Given the description of an element on the screen output the (x, y) to click on. 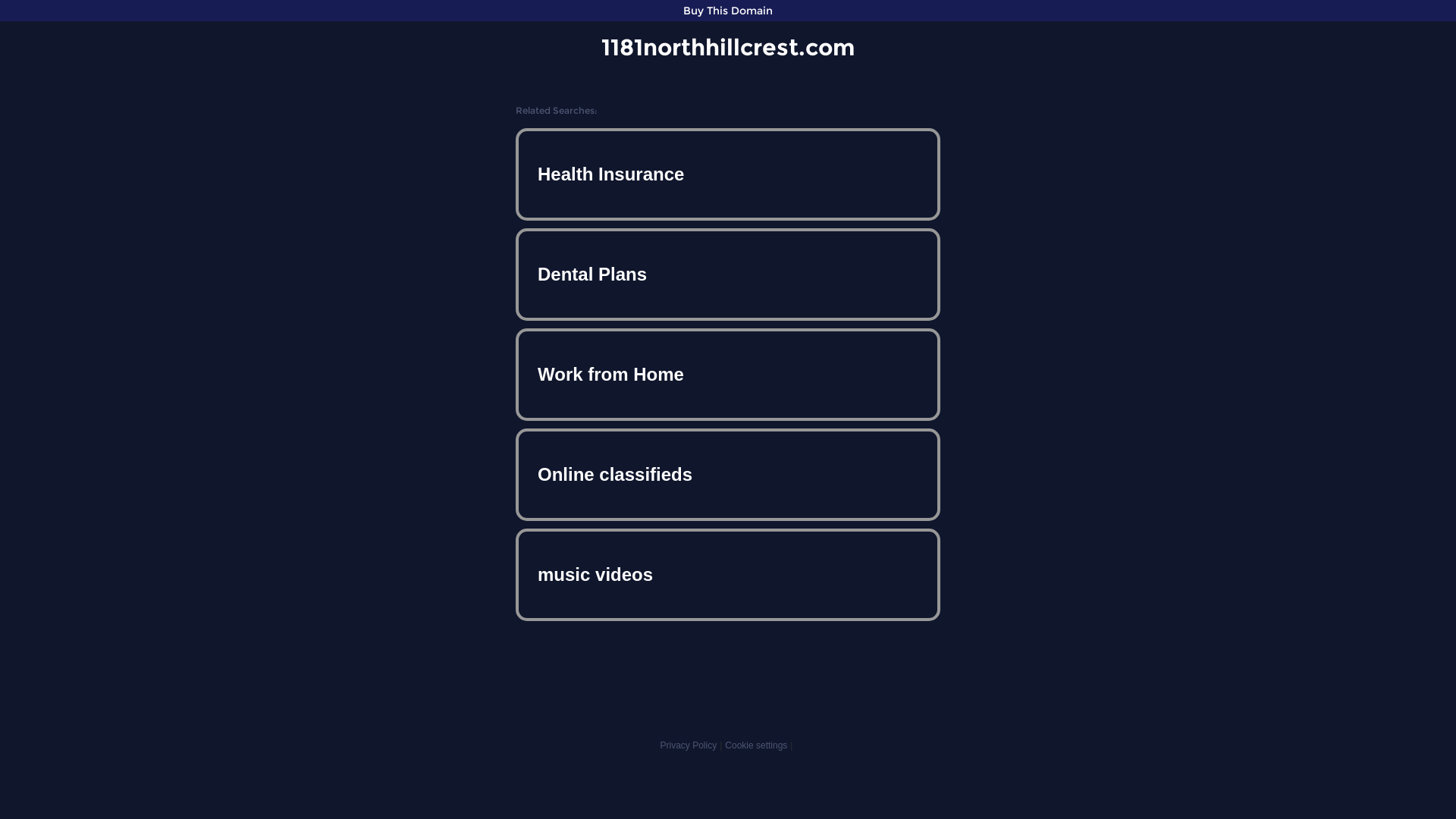
music videos Element type: text (727, 574)
Health Insurance Element type: text (727, 174)
Dental Plans Element type: text (727, 274)
Work from Home Element type: text (727, 374)
Online classifieds Element type: text (727, 474)
Privacy Policy Element type: text (687, 745)
Buy This Domain Element type: text (727, 10)
1181northhillcrest.com Element type: text (727, 47)
Cookie settings Element type: text (755, 745)
